Given the description of an element on the screen output the (x, y) to click on. 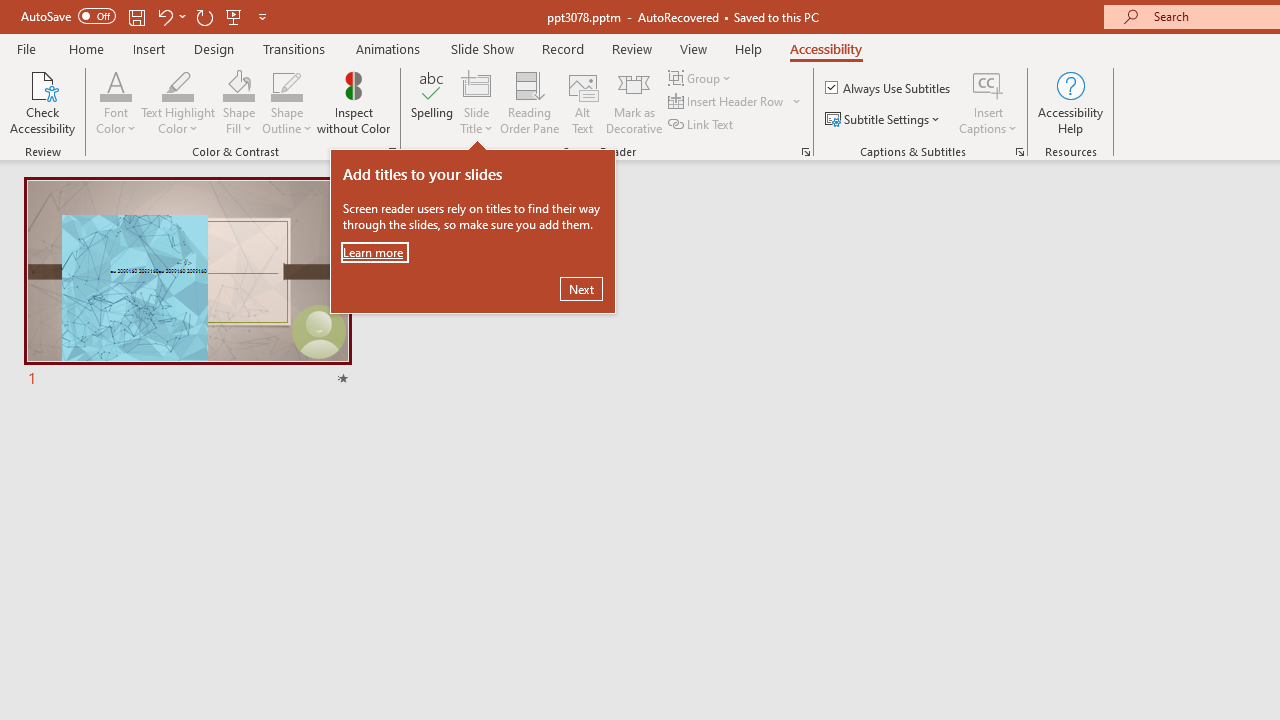
Mark as Decorative (634, 102)
Screen Reader (805, 151)
Insert Captions (988, 84)
Captions & Subtitles (1019, 151)
